Given the description of an element on the screen output the (x, y) to click on. 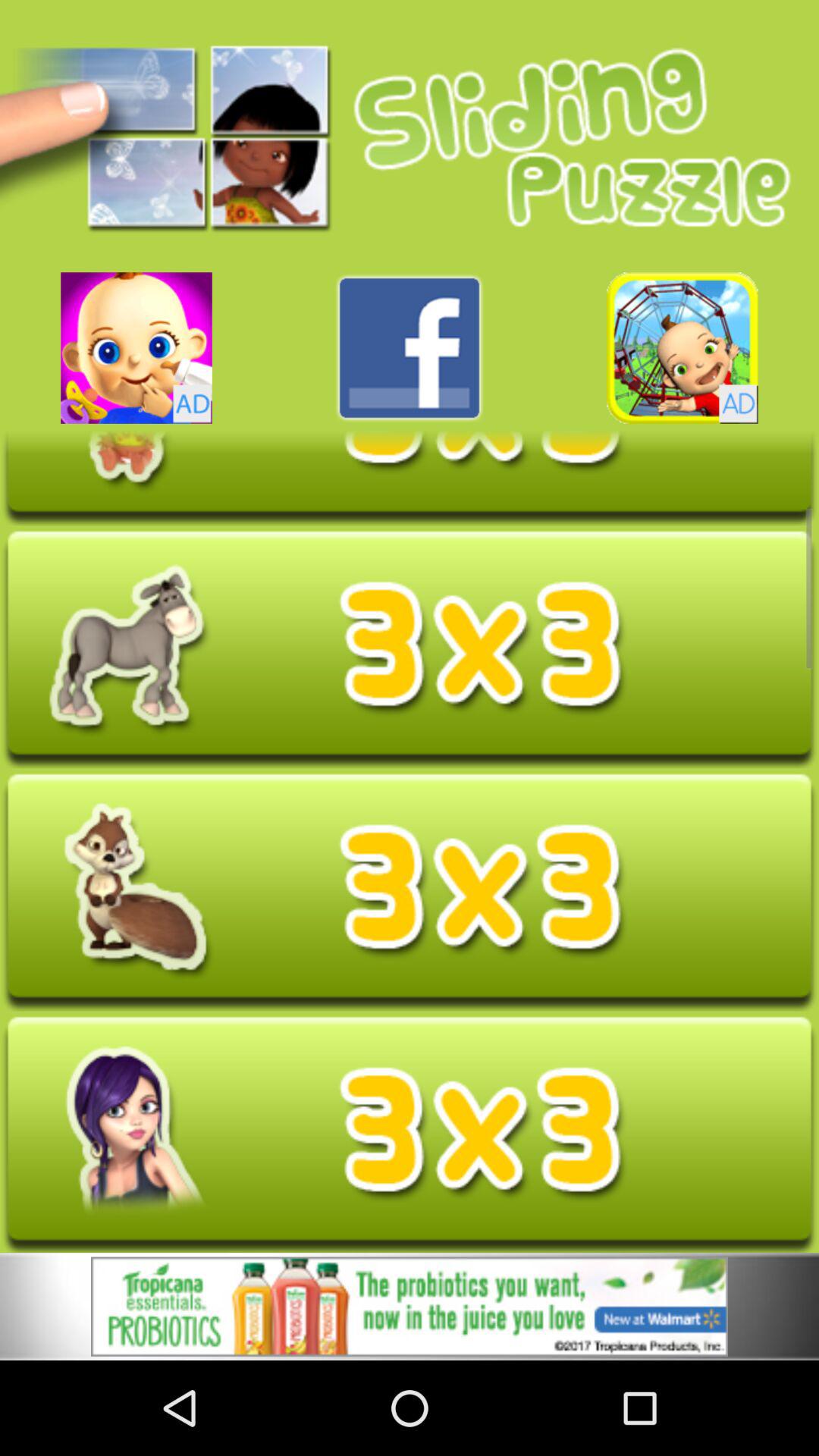
choose the game (136, 347)
